Given the description of an element on the screen output the (x, y) to click on. 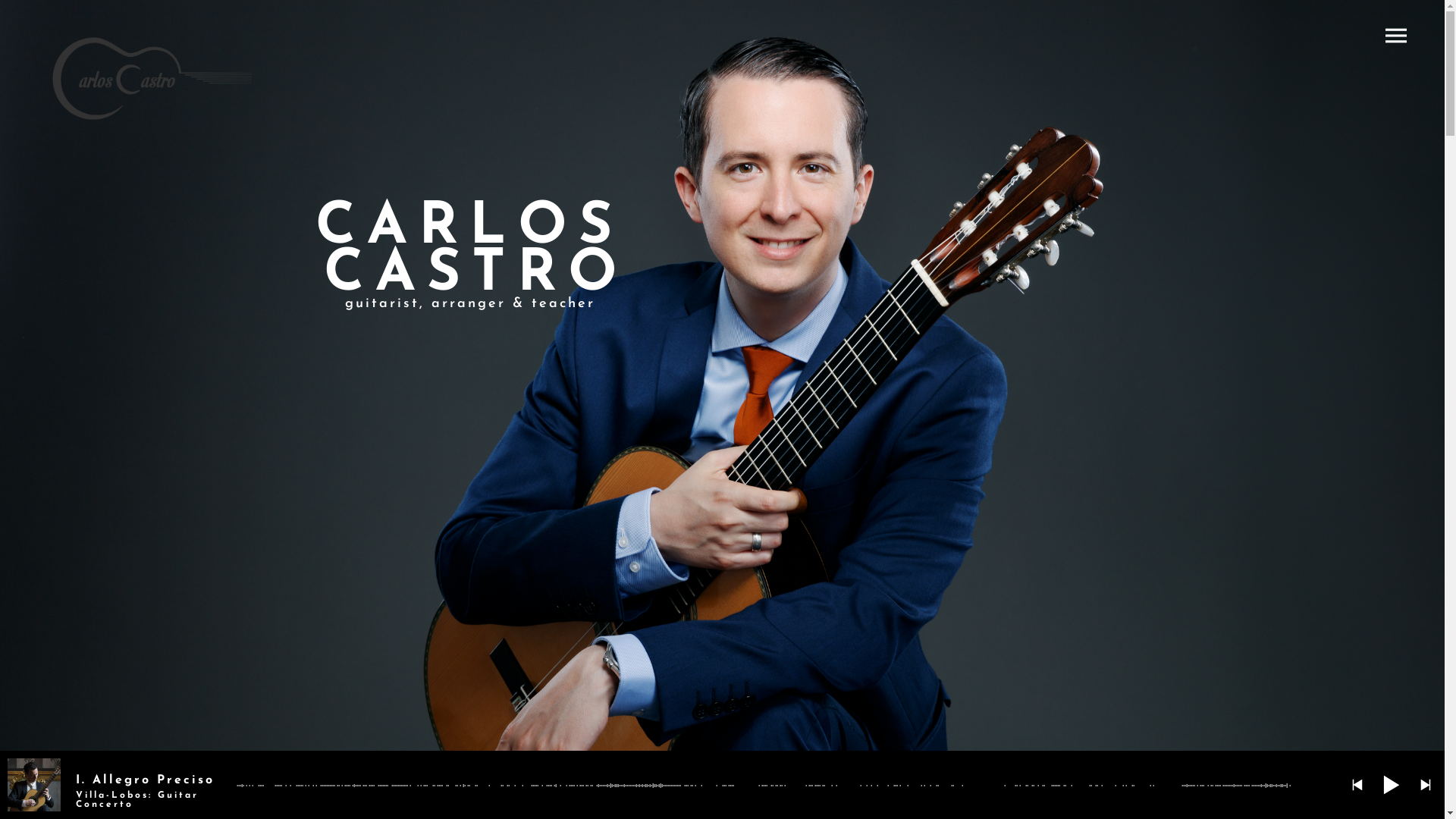
Carlos Castro Element type: hover (151, 79)
